Given the description of an element on the screen output the (x, y) to click on. 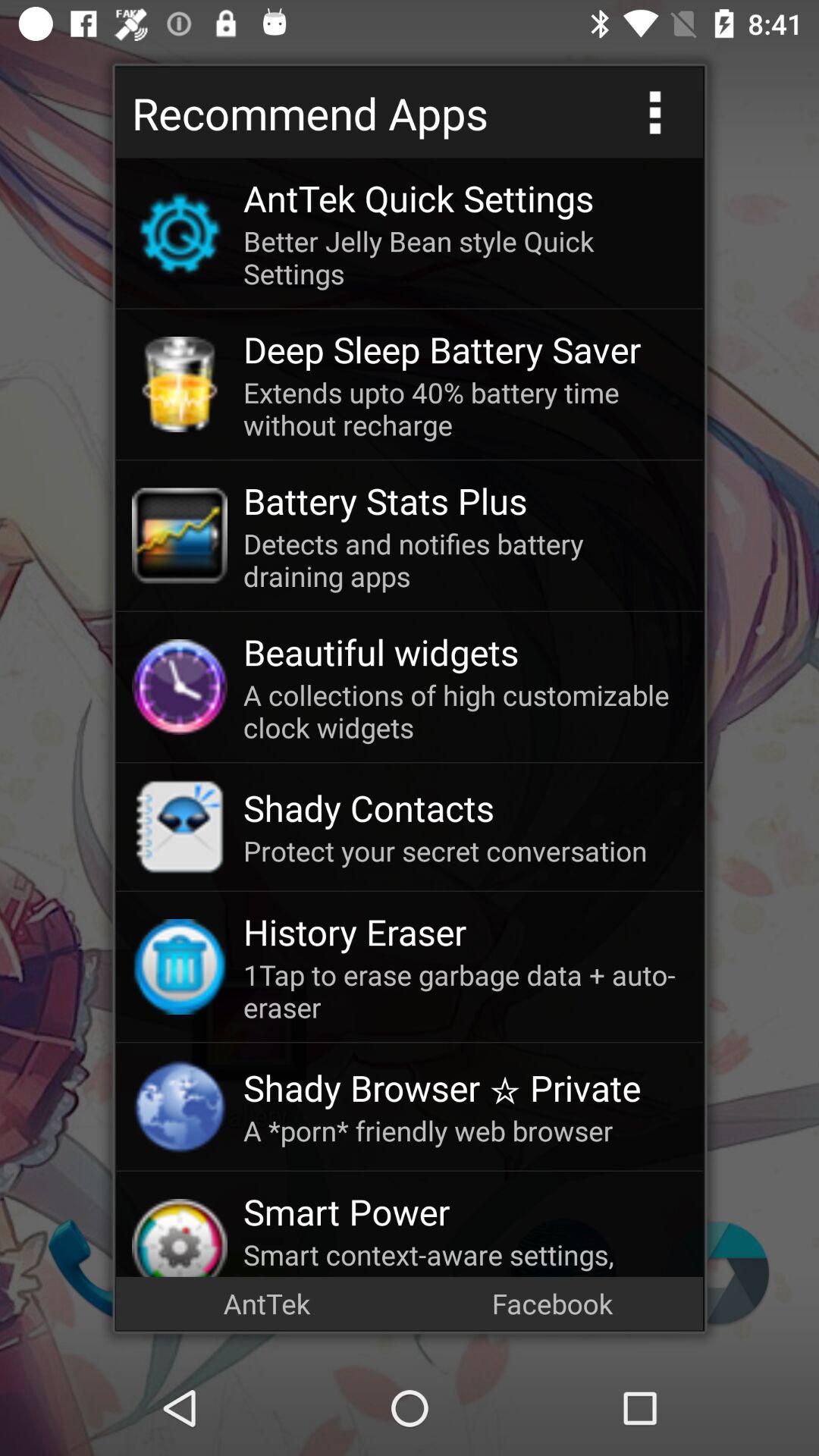
click item below a collections of (465, 807)
